Given the description of an element on the screen output the (x, y) to click on. 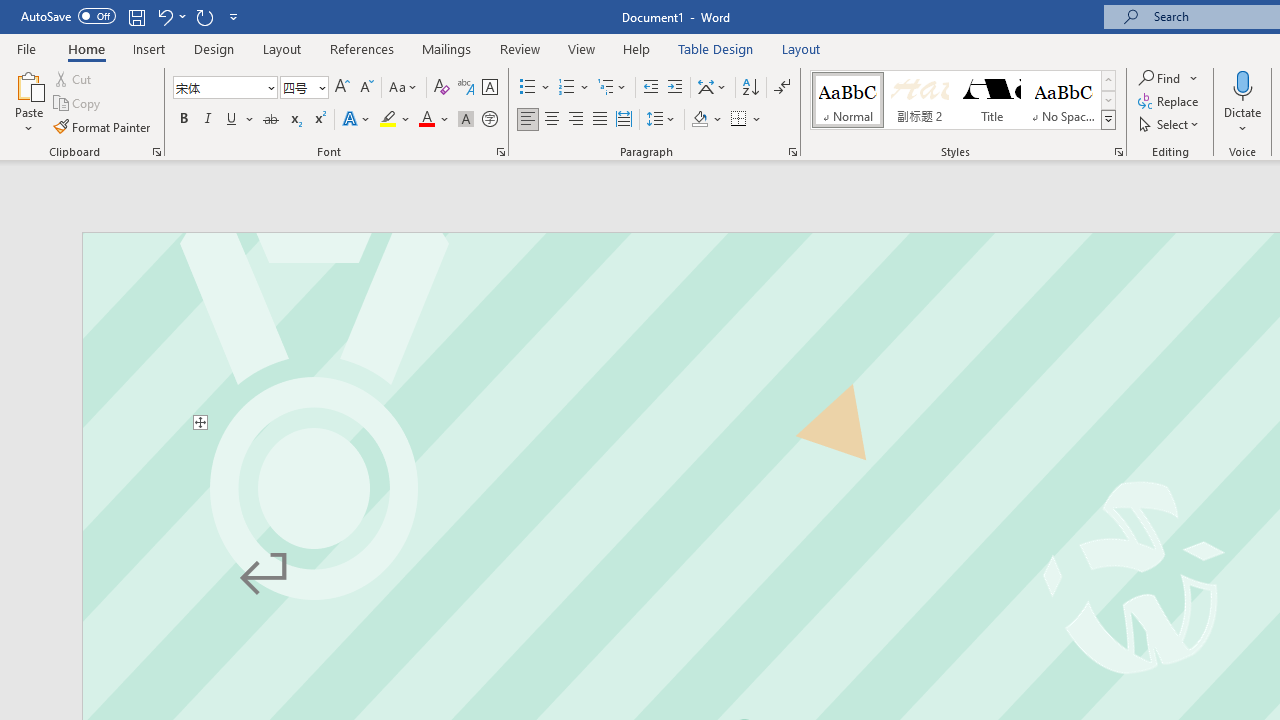
Undo Text Fill Effect (164, 15)
AutomationID: QuickStylesGallery (963, 99)
